Given the description of an element on the screen output the (x, y) to click on. 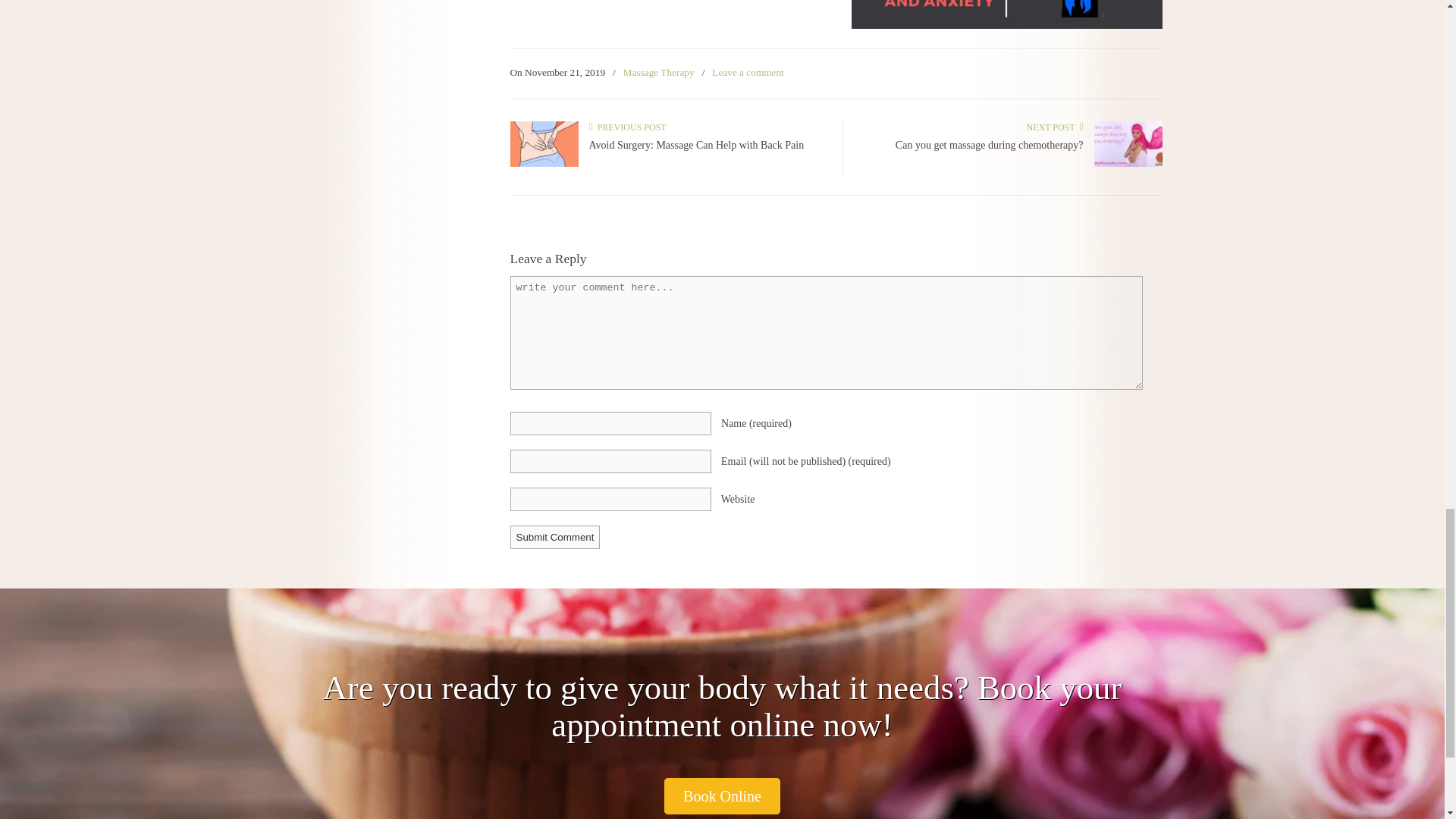
Submit Comment (554, 536)
Can you get massage during chemotherapy? (1127, 163)
Avoid Surgery: Massage Can Help with Back Pain (543, 163)
Go to next post (1054, 127)
Submit Comment (554, 536)
Can you get massage during chemotherapy? (989, 144)
NEXT POST   (1054, 127)
Avoid Surgery: Massage Can Help with Back Pain (695, 144)
Can you get massage during chemotherapy? (989, 144)
 PREVIOUS POST (626, 127)
Avoid Surgery: Massage Can Help with Back Pain (695, 144)
Massage Therapy (658, 72)
Leave a comment (747, 72)
Go to previous post (626, 127)
